Given the description of an element on the screen output the (x, y) to click on. 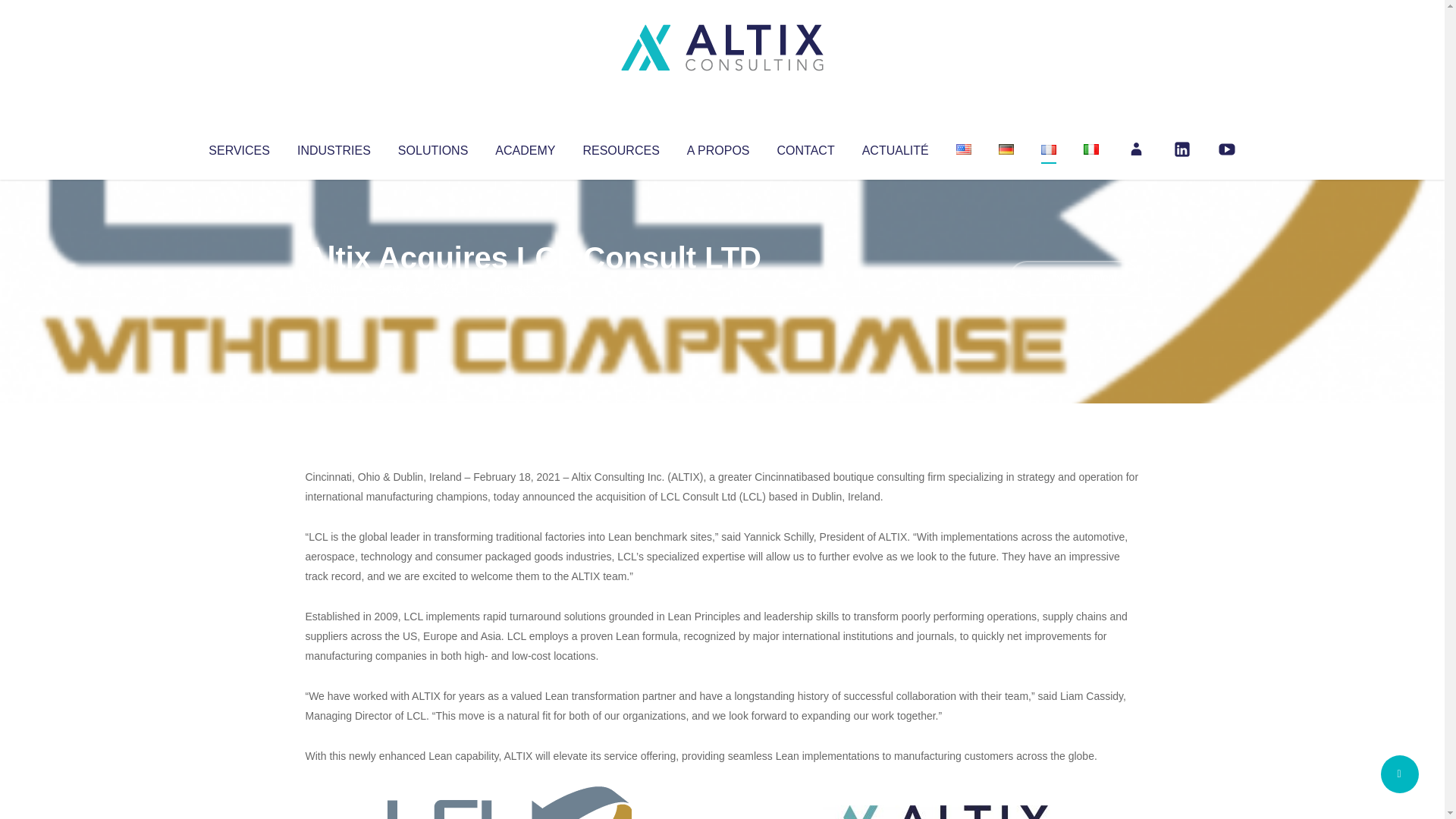
SERVICES (238, 146)
ACADEMY (524, 146)
RESOURCES (620, 146)
A PROPOS (718, 146)
No Comments (1073, 278)
Altix (333, 287)
Articles par Altix (333, 287)
INDUSTRIES (334, 146)
SOLUTIONS (432, 146)
Uncategorized (530, 287)
